Given the description of an element on the screen output the (x, y) to click on. 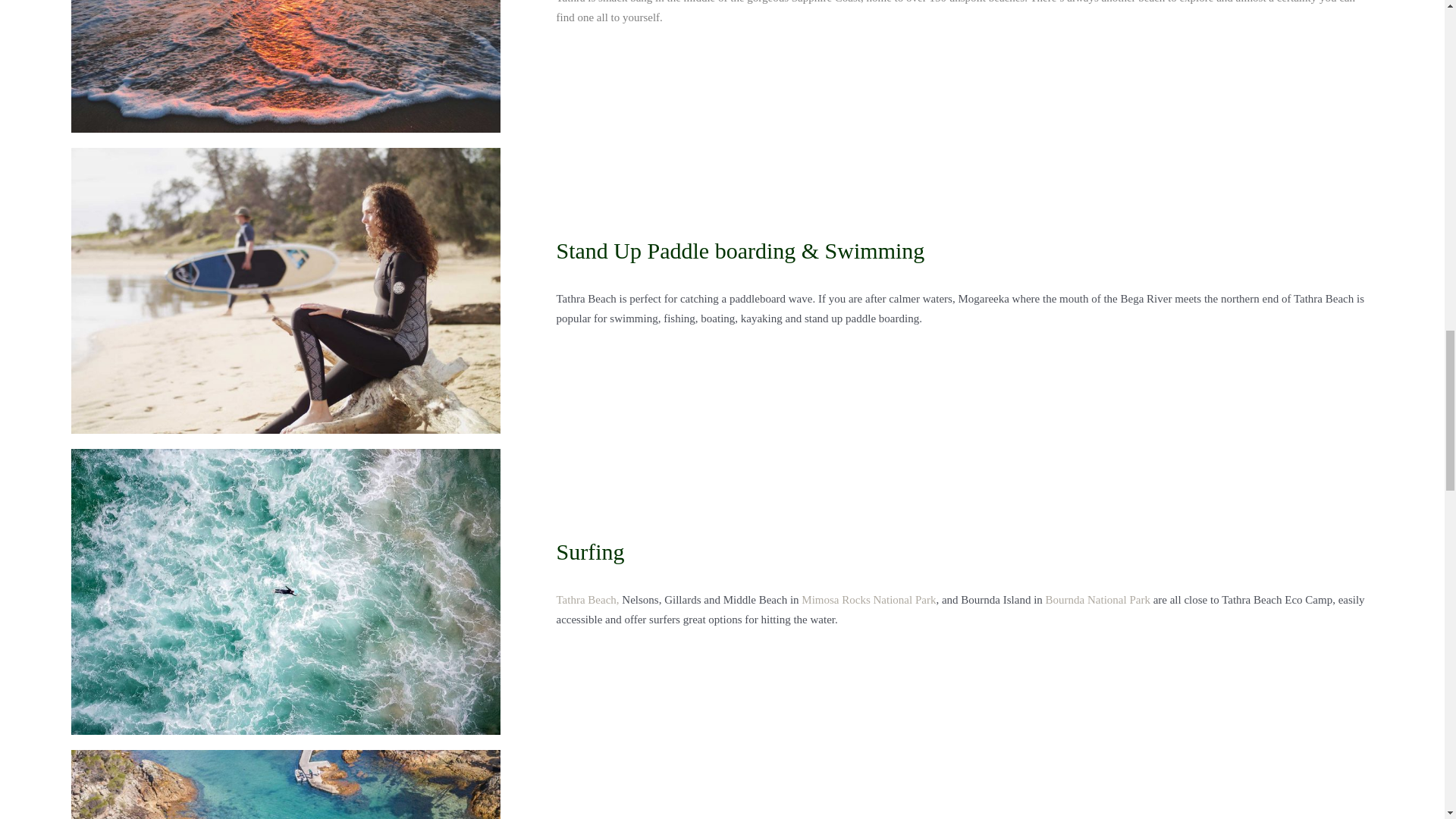
Tathra Beach, (587, 599)
Mimosa Rocks National Park (869, 599)
Bournda National Park (1097, 599)
